Given the description of an element on the screen output the (x, y) to click on. 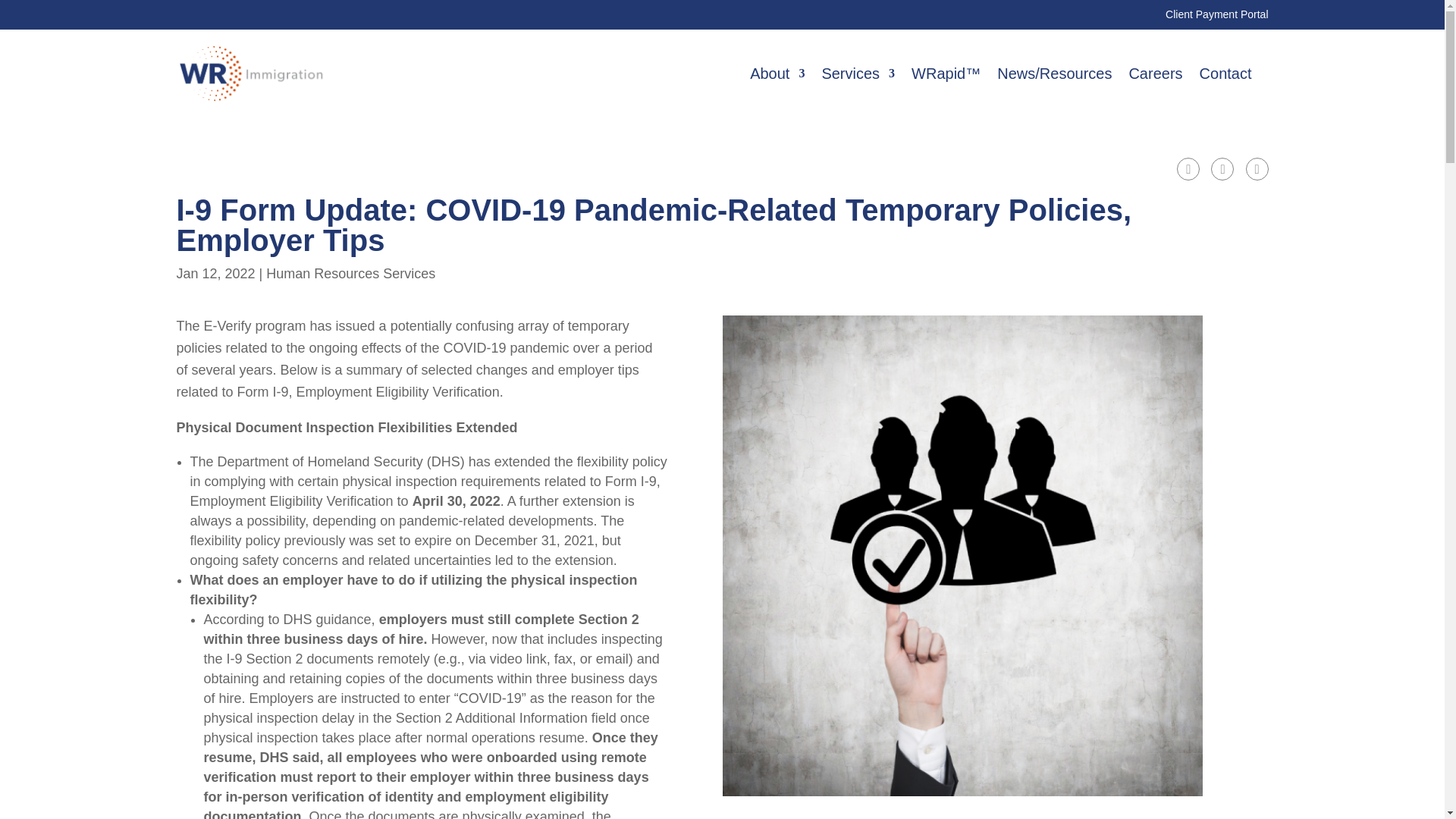
Human Resources Services (350, 273)
Careers (1155, 73)
Contact (1225, 73)
Services (858, 73)
Client Payment Portal (1217, 14)
About (777, 73)
